Given the description of an element on the screen output the (x, y) to click on. 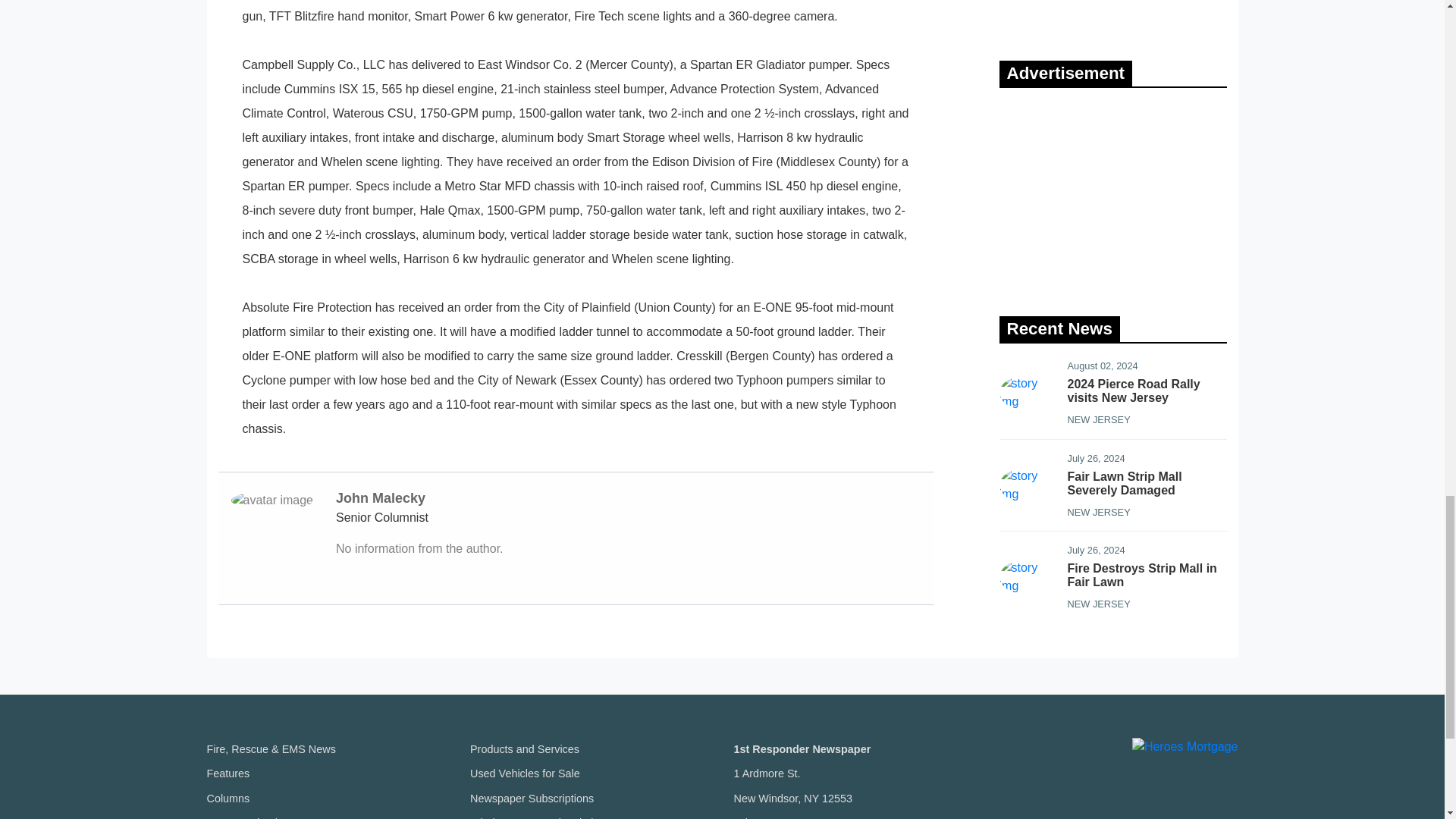
Columns (227, 798)
Events Calendar (246, 817)
Features (227, 773)
Features (227, 773)
